Given the description of an element on the screen output the (x, y) to click on. 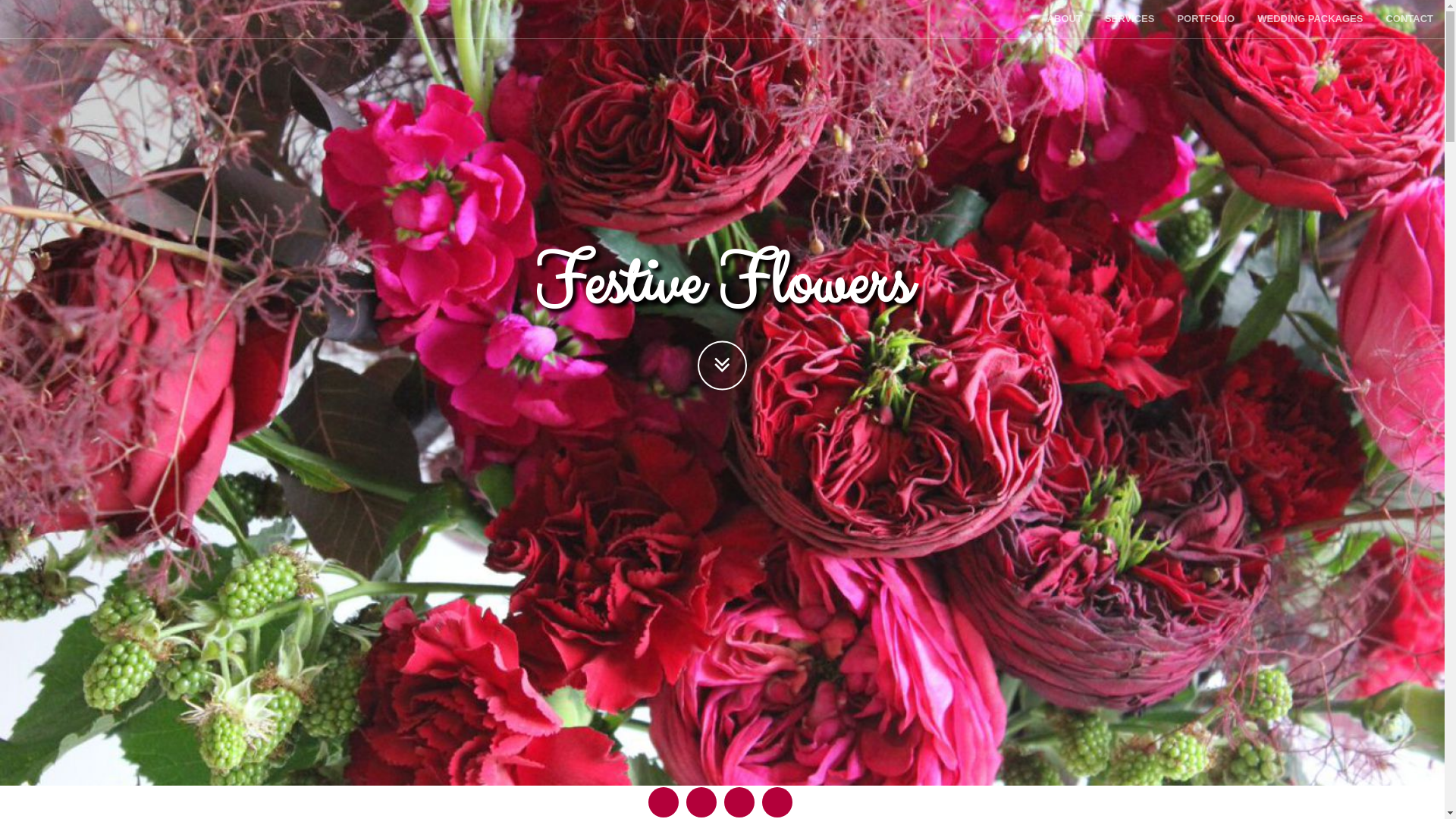
WEDDING PACKAGES Element type: text (1309, 18)
SERVICES Element type: text (1129, 18)
ABOUT Element type: text (1064, 18)
PORTFOLIO Element type: text (1205, 18)
CONTACT Element type: text (1409, 18)
